Given the description of an element on the screen output the (x, y) to click on. 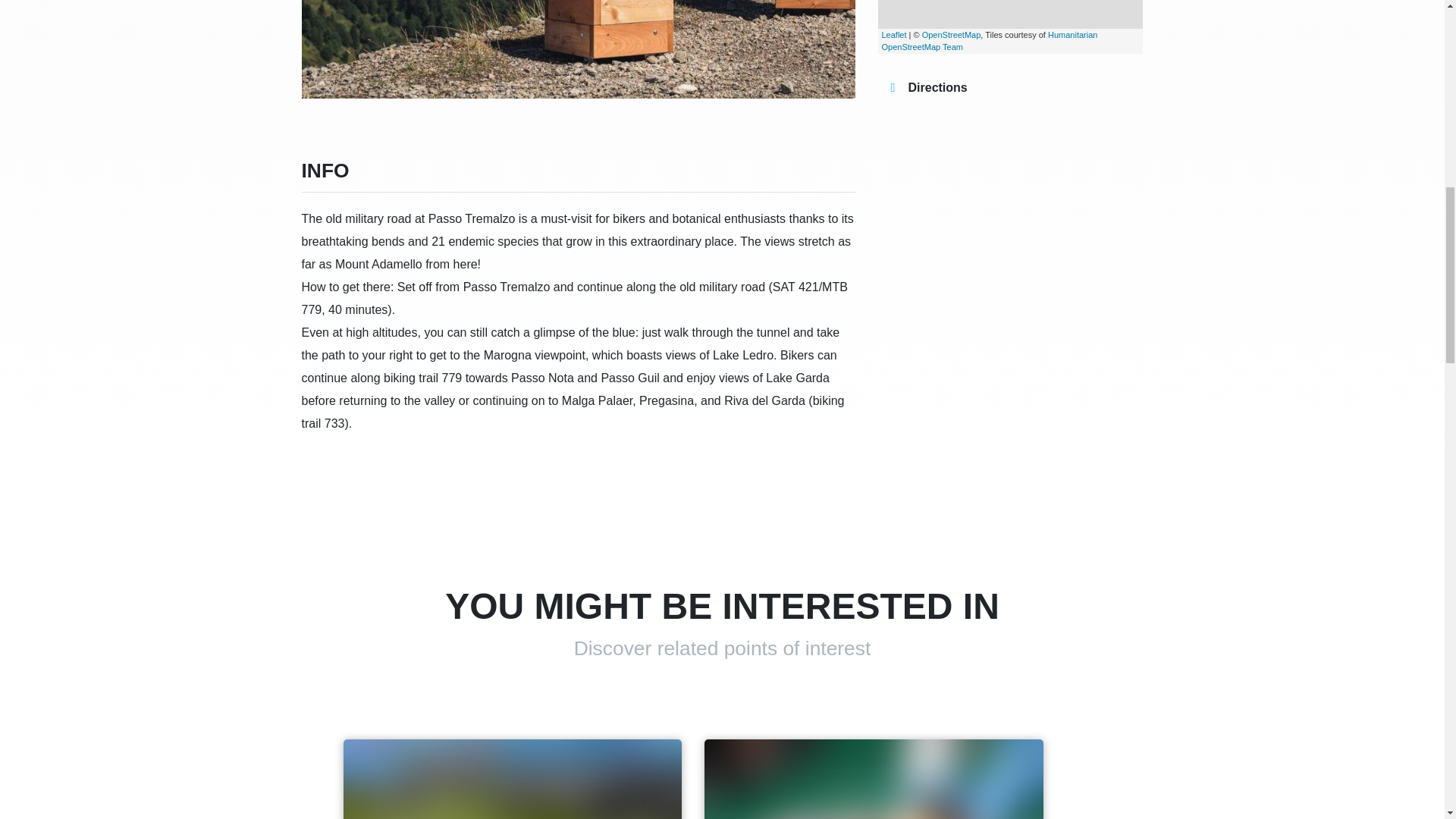
Humanitarian OpenStreetMap Team (988, 41)
Leaflet (892, 34)
A JS library for interactive maps (892, 34)
Directions (922, 87)
OpenStreetMap (951, 34)
